Given the description of an element on the screen output the (x, y) to click on. 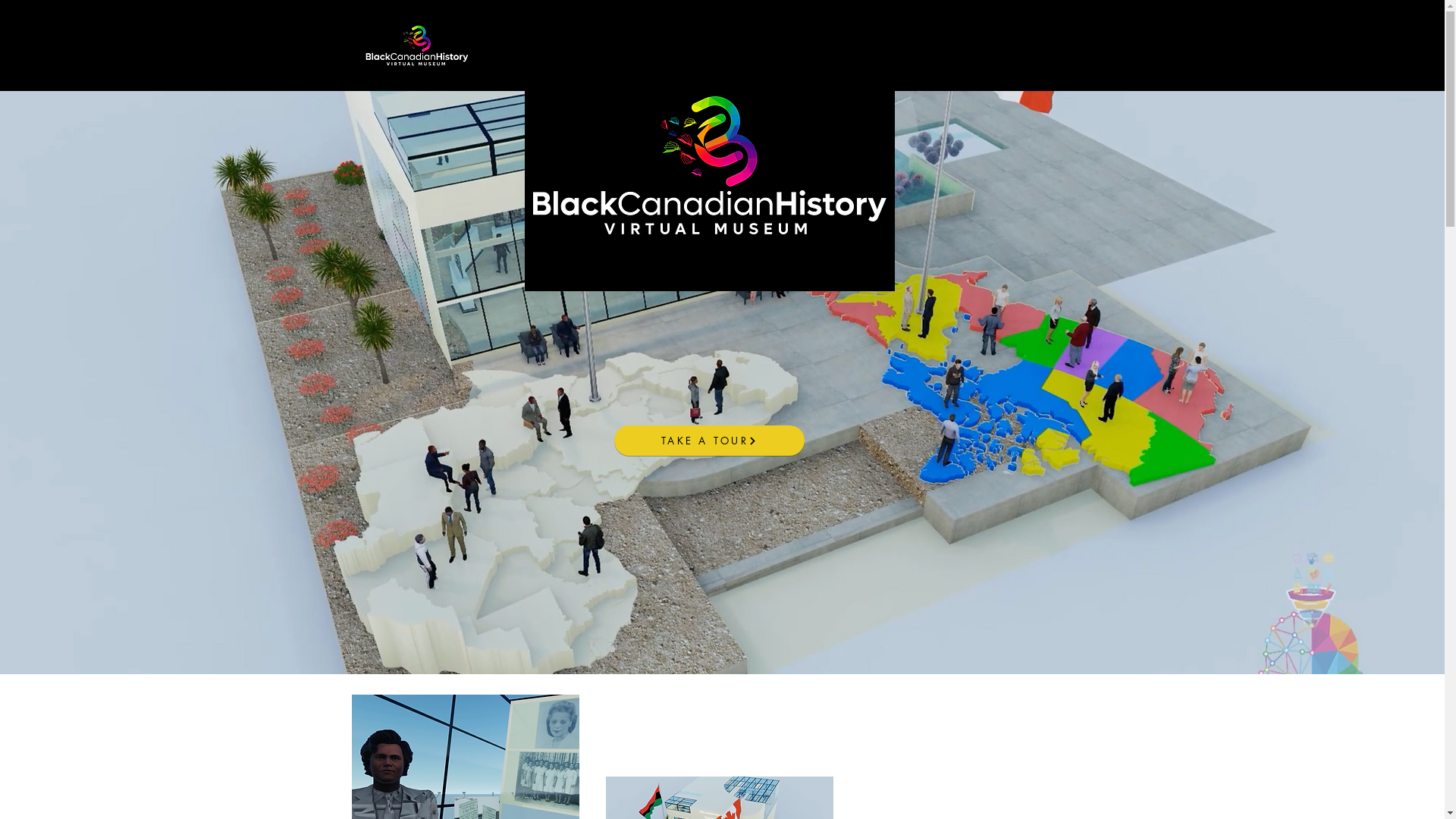
TAKE A TOUR Element type: text (709, 440)
